Given the description of an element on the screen output the (x, y) to click on. 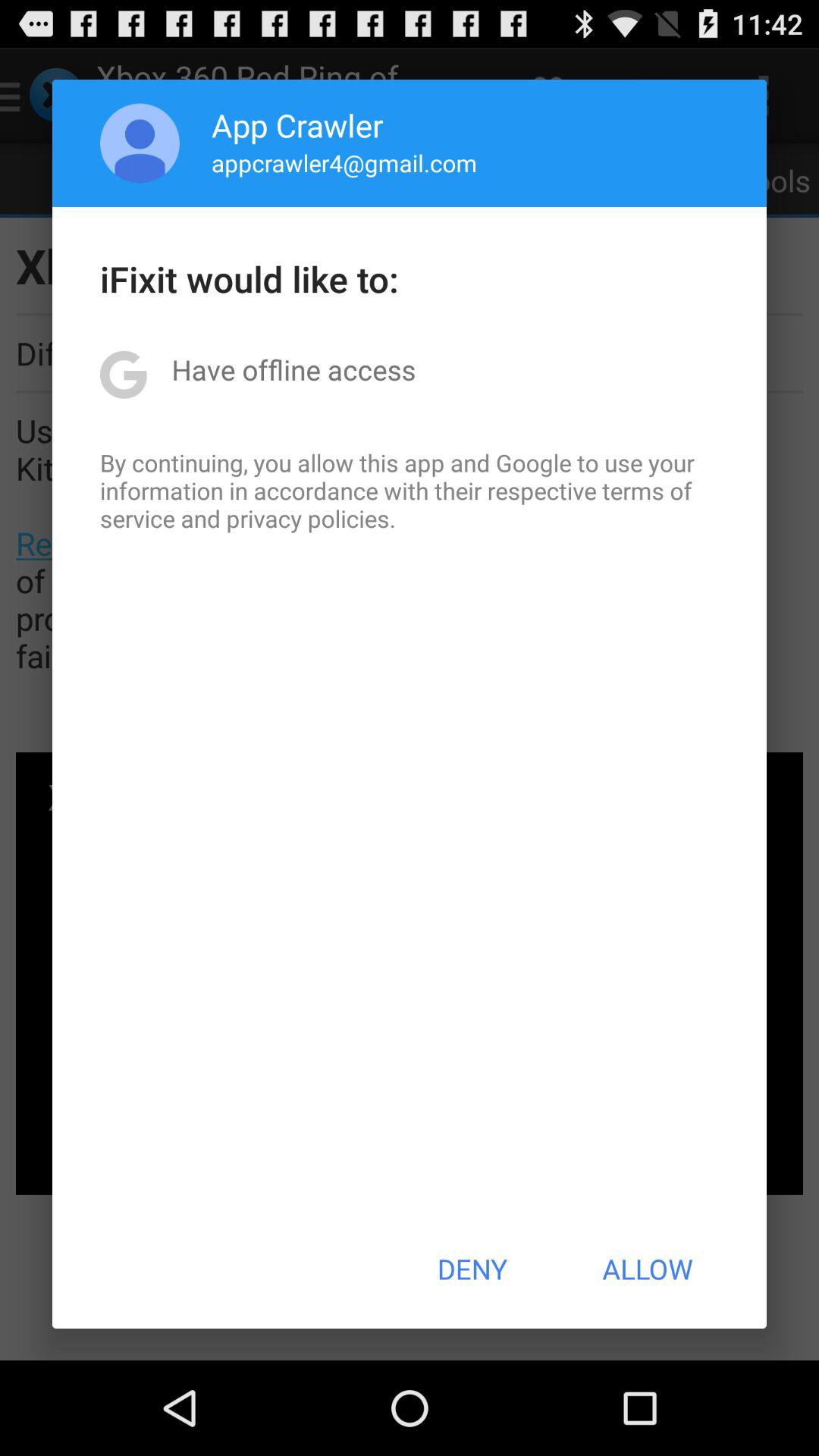
choose the icon above the ifixit would like item (139, 143)
